Given the description of an element on the screen output the (x, y) to click on. 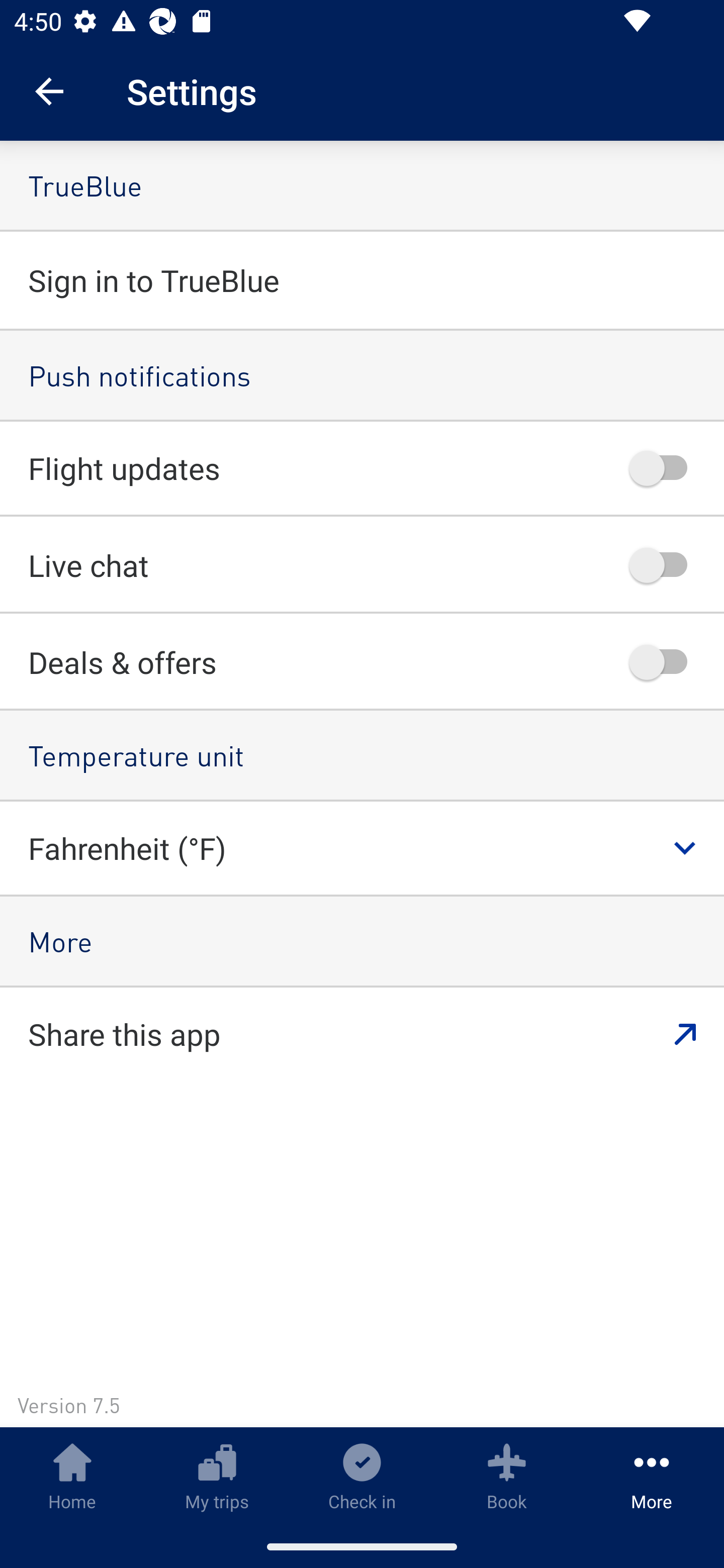
Navigate up (49, 91)
Sign in to TrueBlue (362, 279)
Fahrenheit (°F) (376, 847)
Share this app (362, 1033)
Home (72, 1475)
My trips (216, 1475)
Check in (361, 1475)
Book (506, 1475)
